Given the description of an element on the screen output the (x, y) to click on. 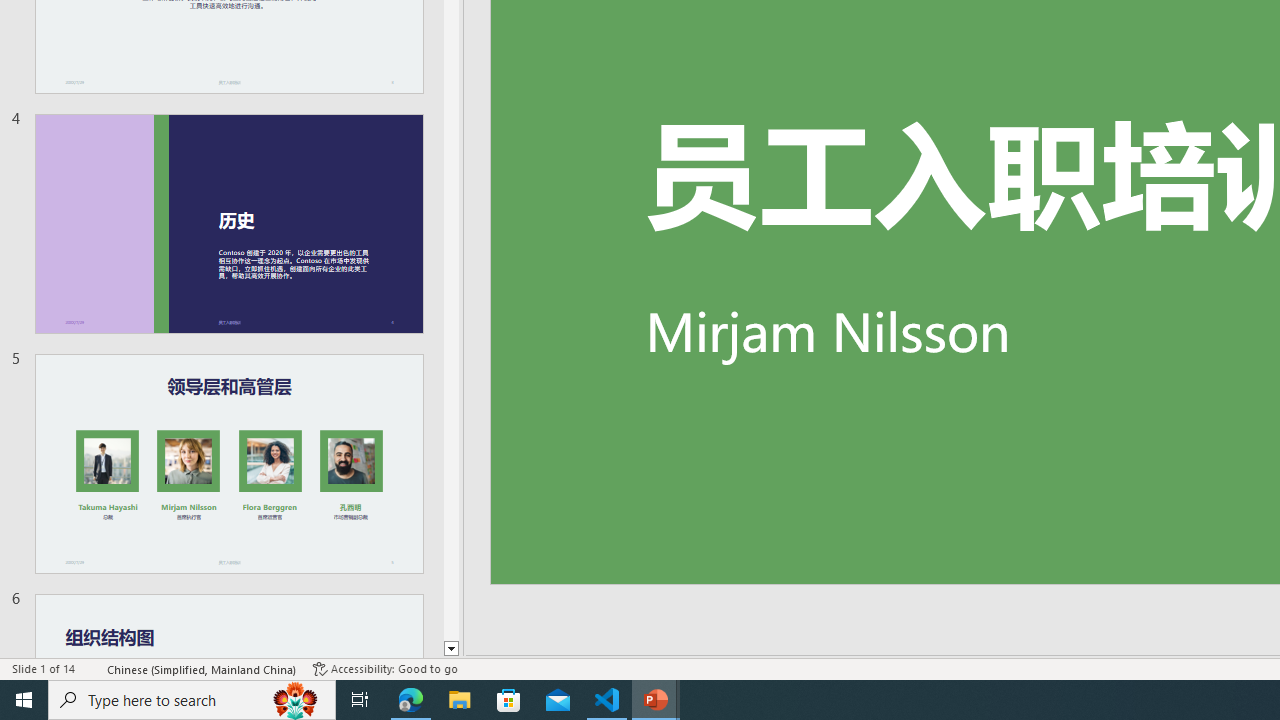
PowerPoint - 2 running windows (656, 699)
Spell Check  (92, 668)
